Given the description of an element on the screen output the (x, y) to click on. 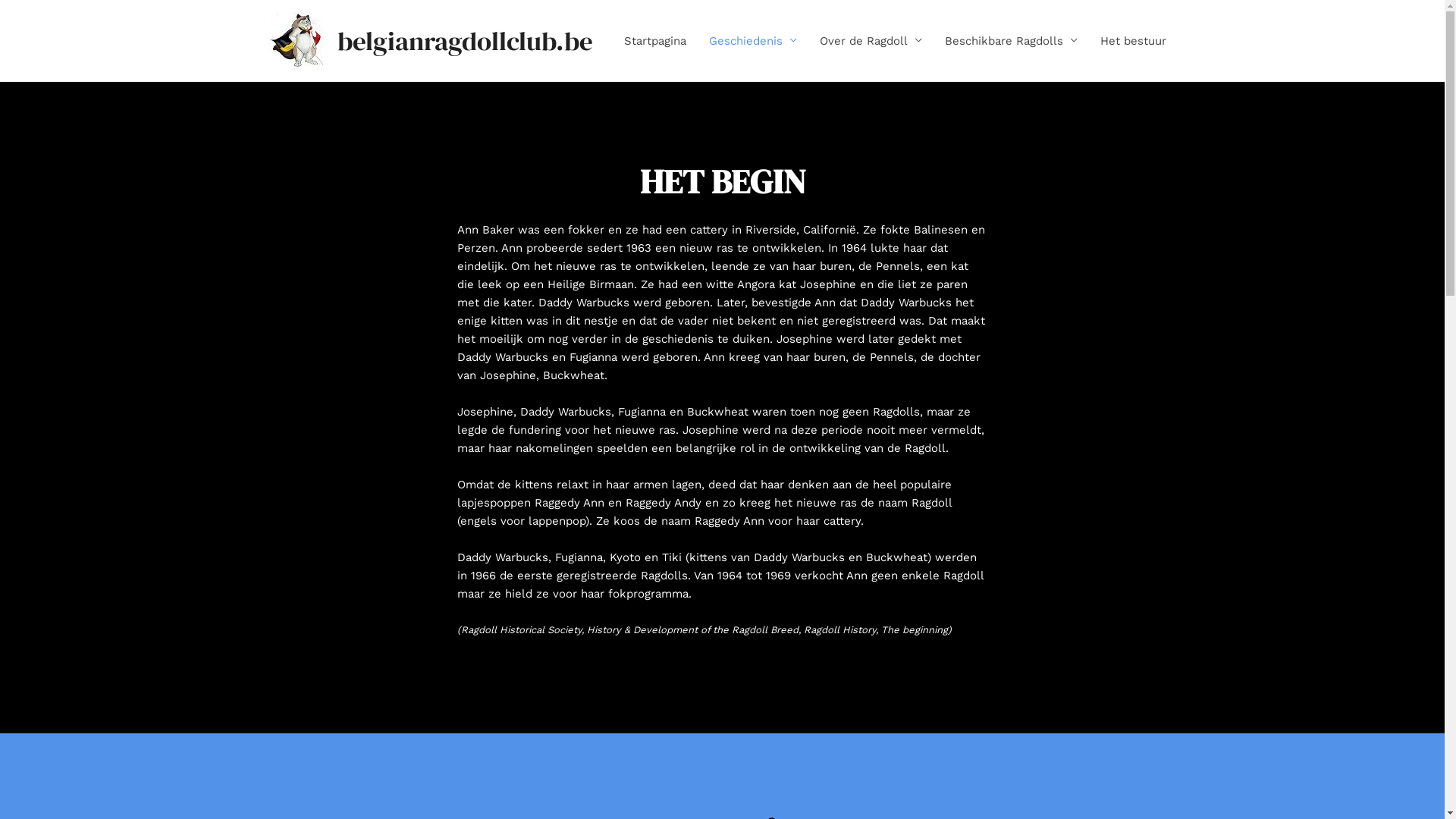
Startpagina Element type: text (654, 40)
Het bestuur Element type: text (1132, 40)
Geschiedenis Element type: text (752, 40)
Over de Ragdoll Element type: text (870, 40)
belgianragdollclub.be Element type: text (464, 40)
Beschikbare Ragdolls Element type: text (1010, 40)
